Given the description of an element on the screen output the (x, y) to click on. 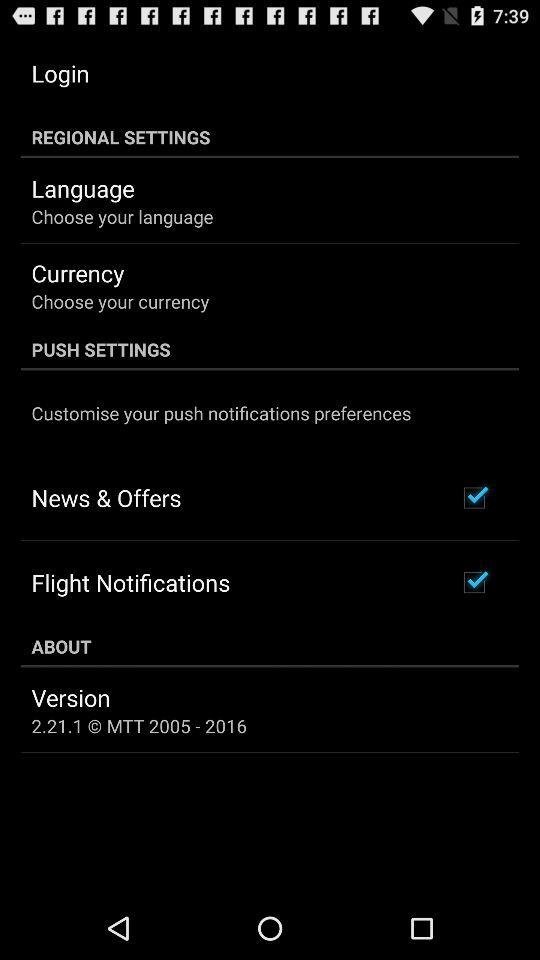
turn off the icon below news & offers (130, 582)
